Given the description of an element on the screen output the (x, y) to click on. 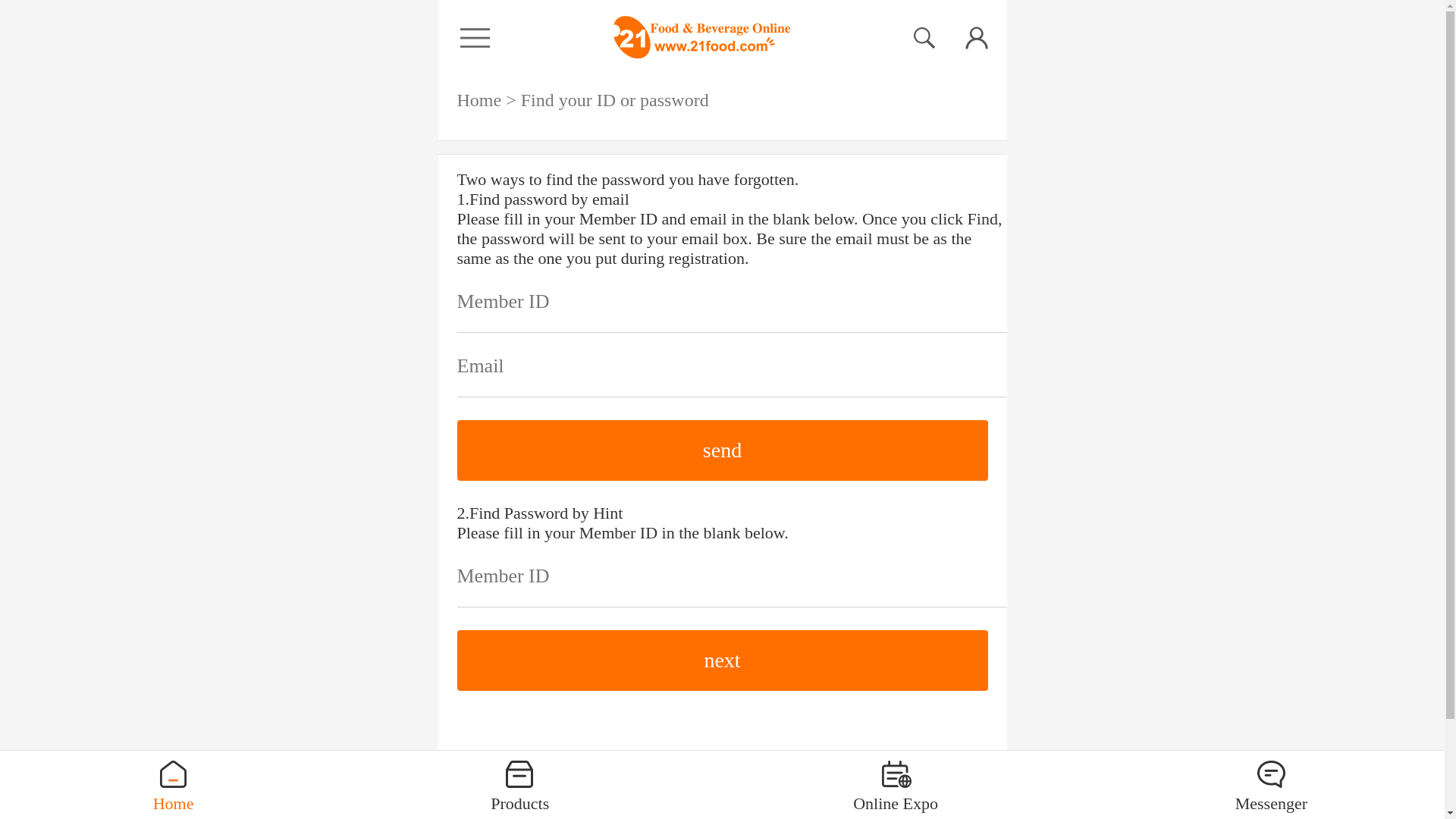
  Home (173, 787)
Home (478, 99)
